Given the description of an element on the screen output the (x, y) to click on. 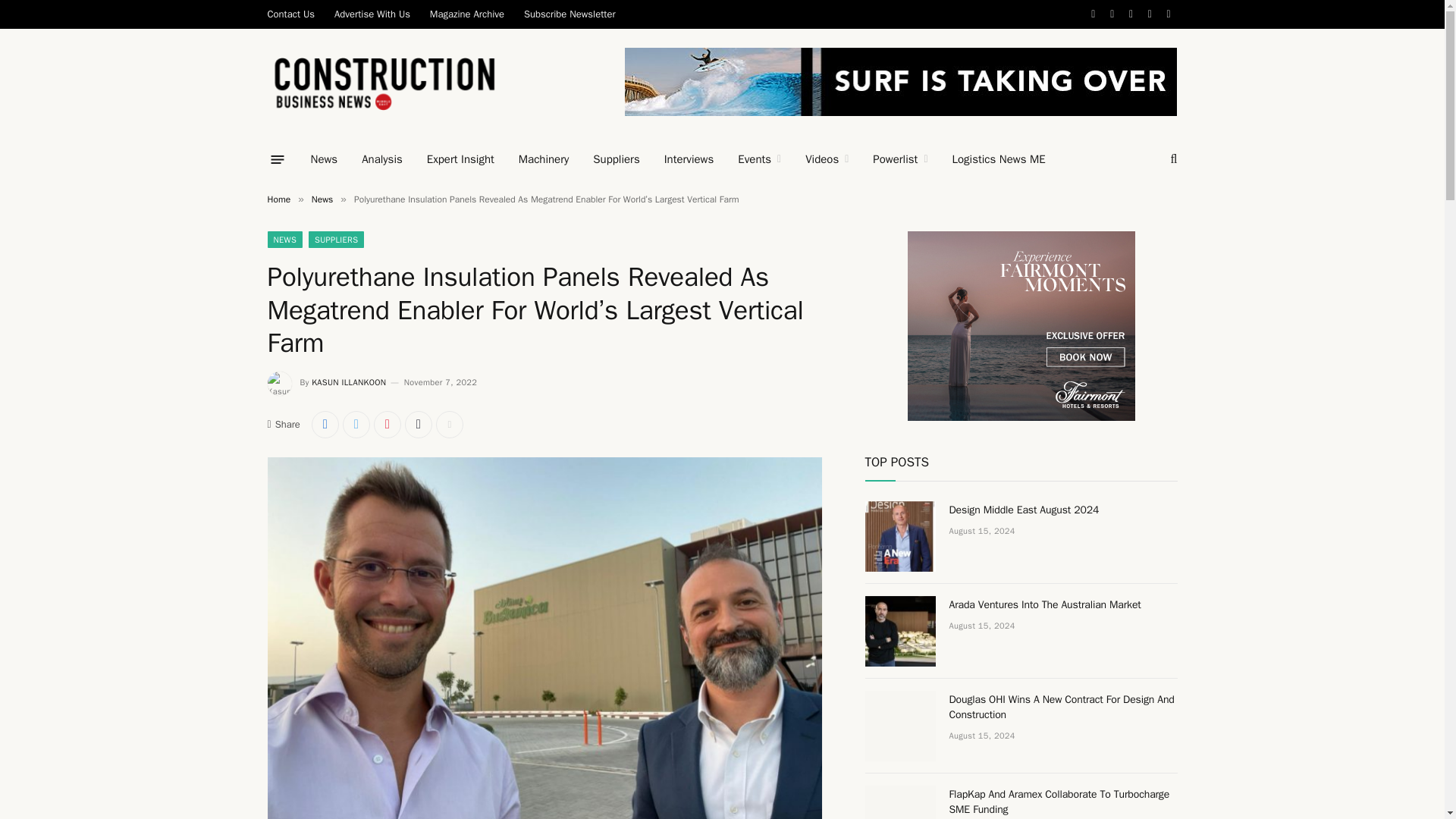
Events (759, 159)
Show More Social Sharing (449, 424)
Copy Link (418, 424)
Contact Us (290, 13)
Posts by Kasun Illankoon (348, 381)
Magazine Archive (466, 13)
Advertise With Us (372, 13)
Construction Business News Middle East (383, 83)
News (324, 159)
Share on Pinterest (387, 424)
